Given the description of an element on the screen output the (x, y) to click on. 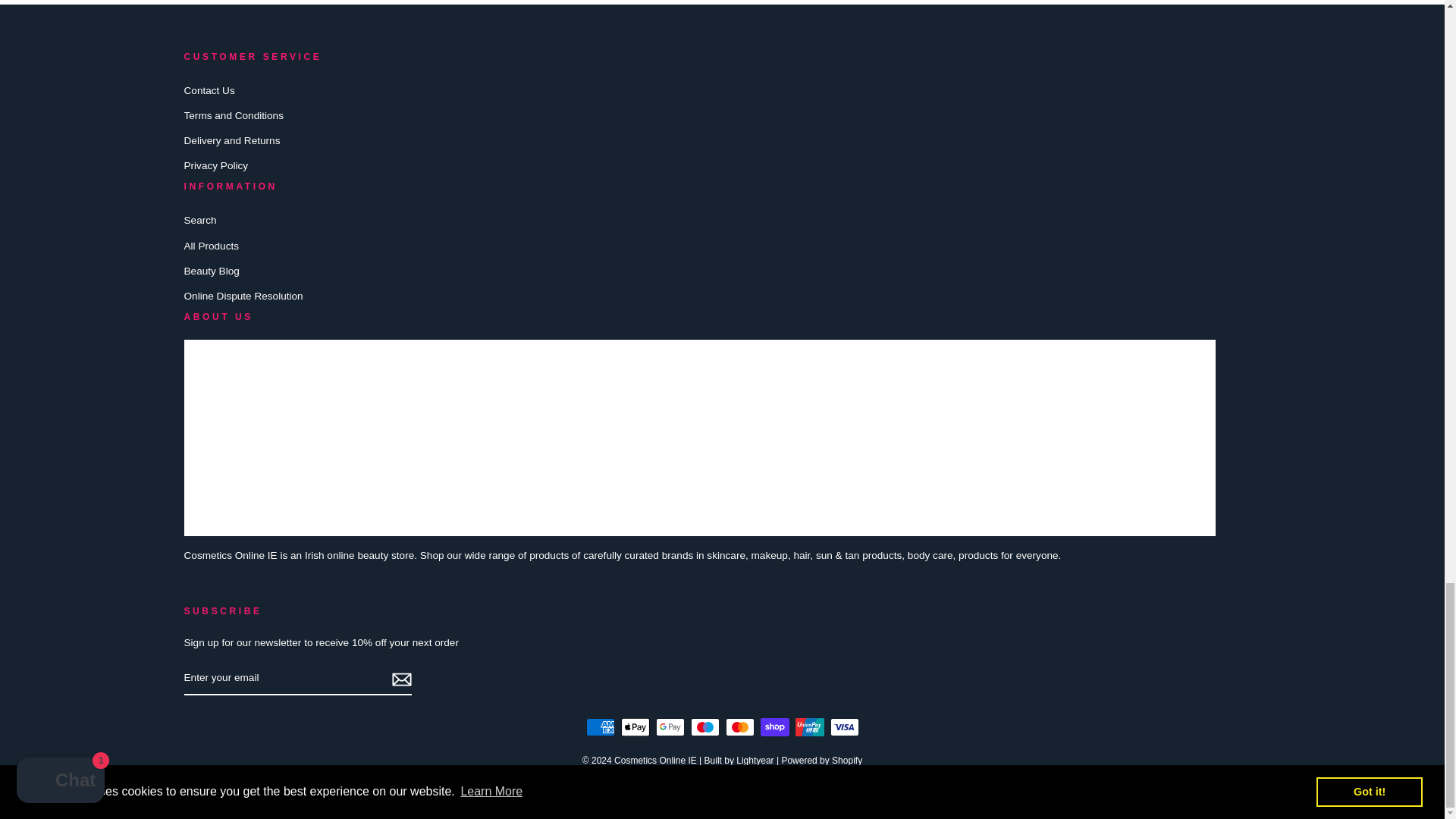
American Express (599, 727)
Cosmetics Online IE on Instagram (192, 583)
Apple Pay (634, 727)
Cosmetics Online IE on Facebook (222, 583)
Cosmetics Online IE on YouTube (251, 583)
Google Pay (669, 727)
Maestro (704, 727)
